Given the description of an element on the screen output the (x, y) to click on. 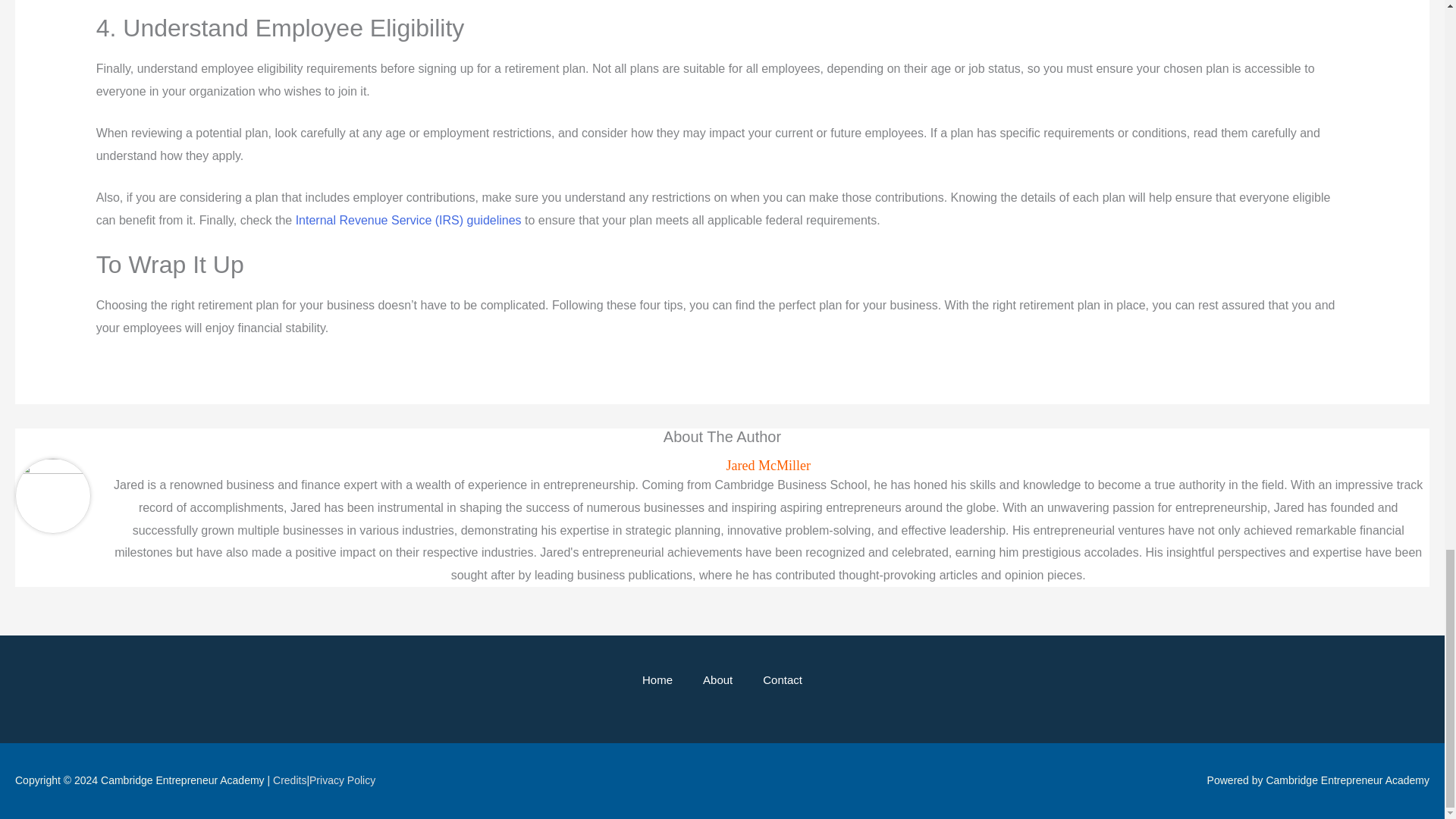
Jared McMiller (767, 465)
About (717, 679)
Privacy Policy (341, 779)
Credits (289, 779)
Contact (782, 679)
Home (657, 679)
